Given the description of an element on the screen output the (x, y) to click on. 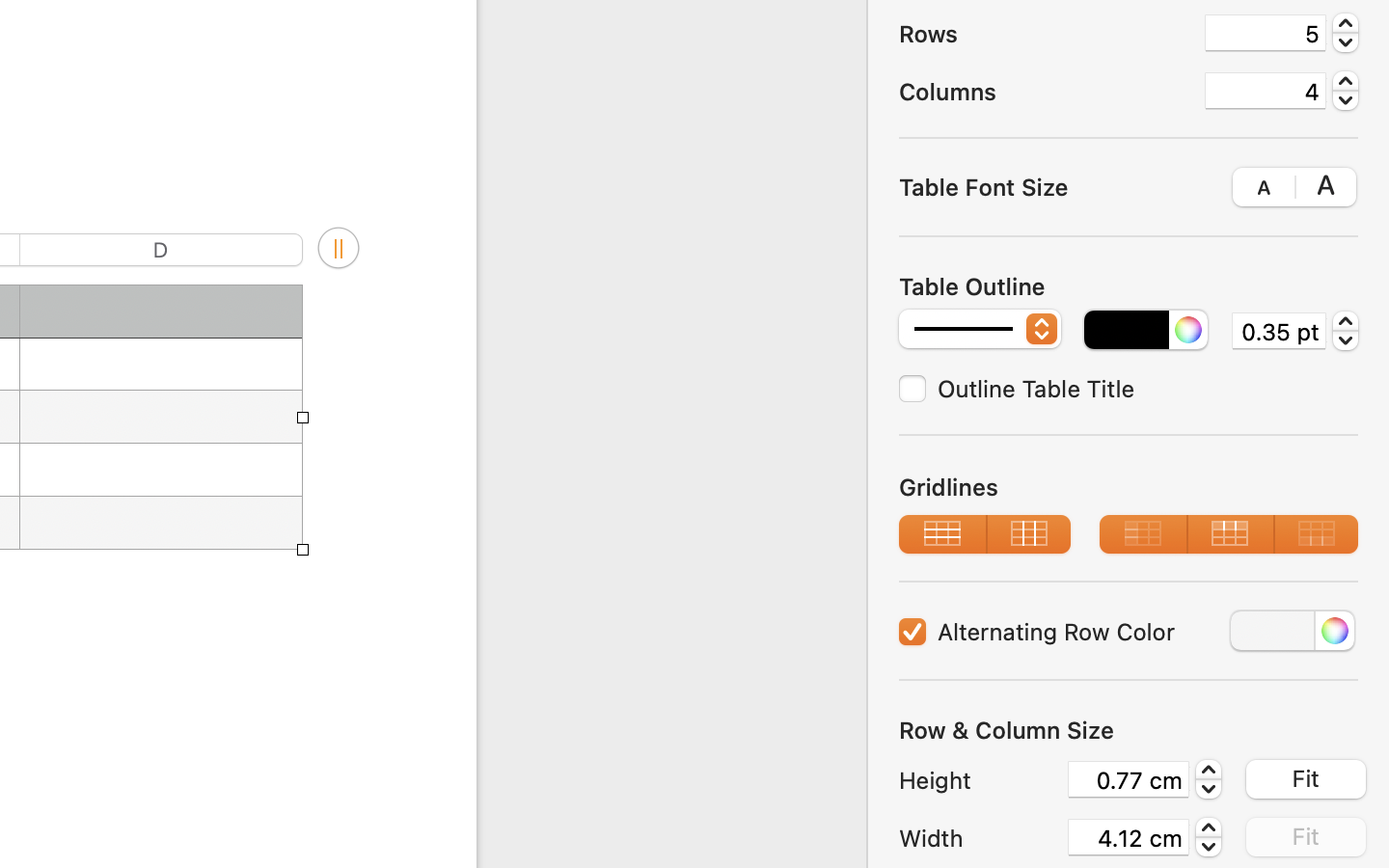
Rows Element type: AXStaticText (1043, 33)
4.12 cm Element type: AXTextField (1128, 836)
5.0 Element type: AXIncrementor (1345, 32)
4 Element type: AXTextField (1265, 90)
0.35 pt Element type: AXTextField (1278, 329)
